Given the description of an element on the screen output the (x, y) to click on. 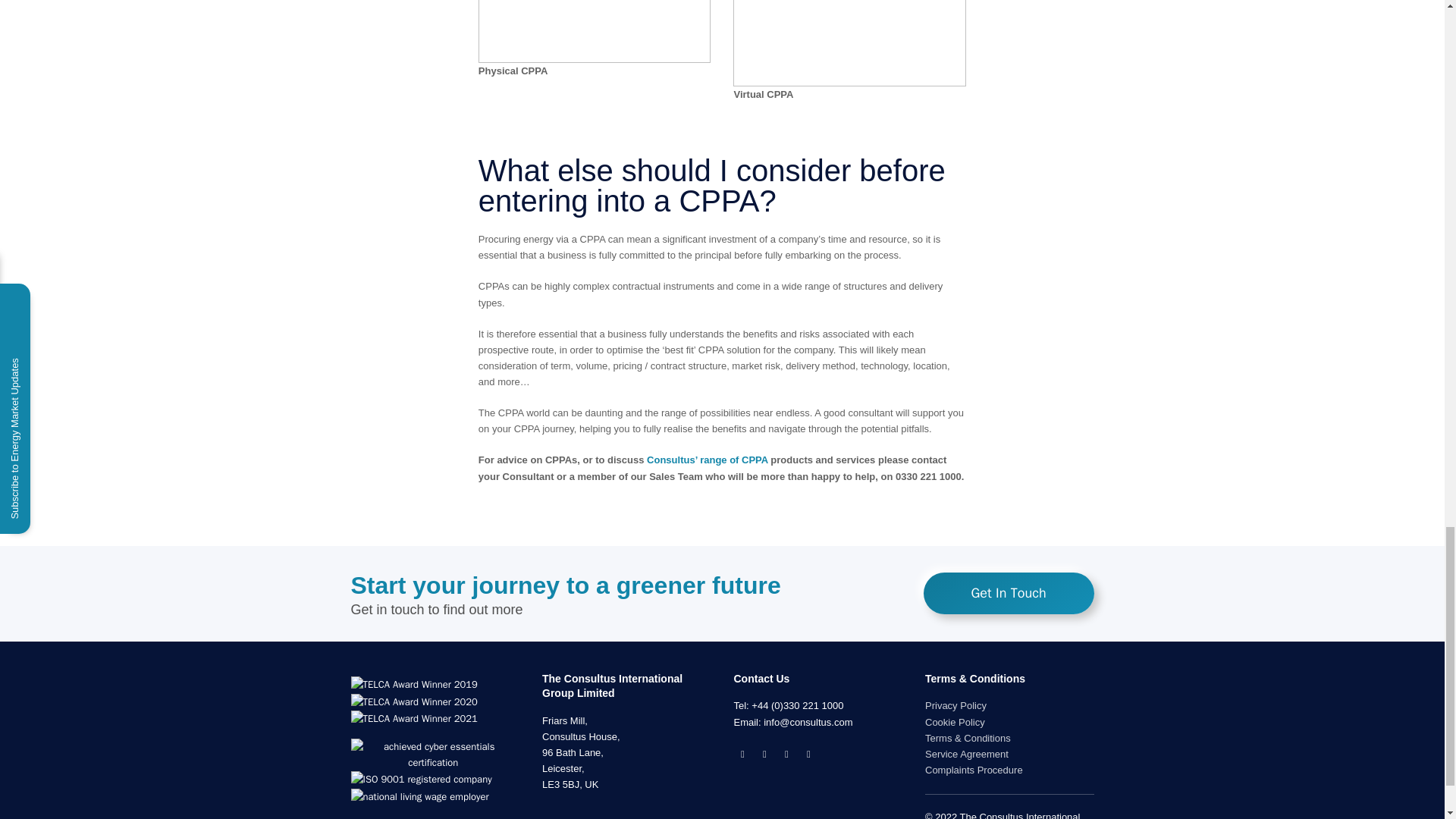
LinkedIn (764, 754)
Twitter (742, 754)
Facebook (785, 754)
YouTube (807, 754)
